Given the description of an element on the screen output the (x, y) to click on. 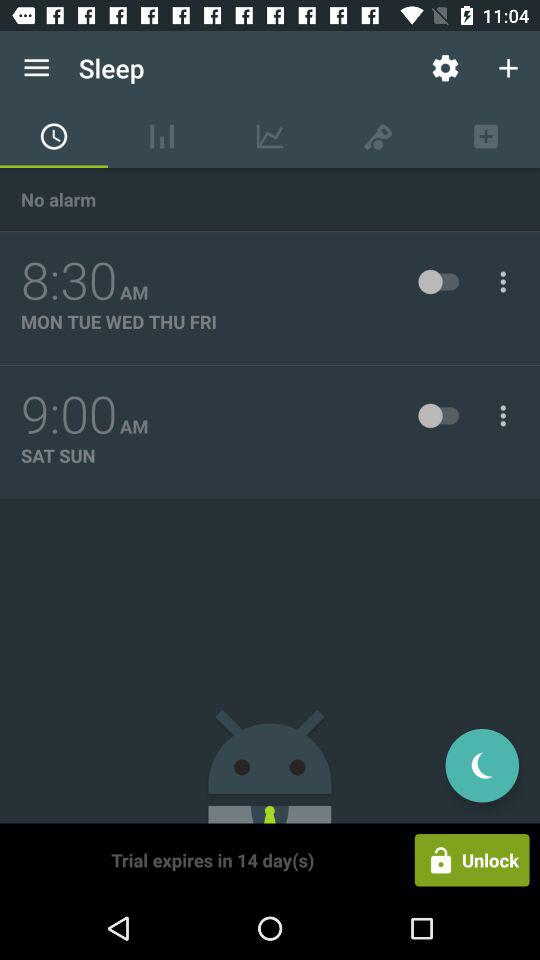
click icon above unlock item (482, 765)
